Given the description of an element on the screen output the (x, y) to click on. 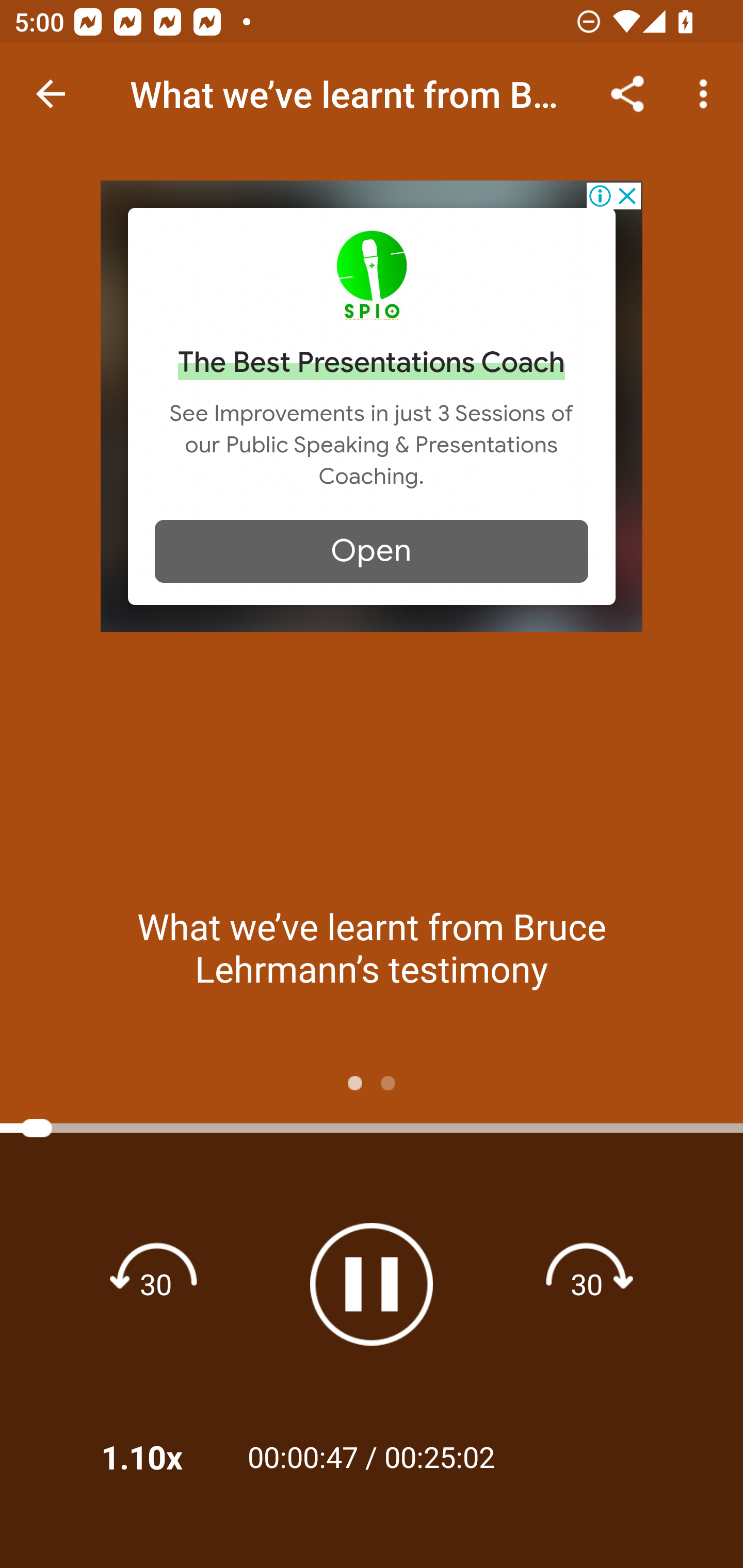
Navigate up (50, 93)
Share... (626, 93)
More options (706, 93)
www.spio (371, 274)
The Best Presentations Coach (371, 362)
Open (371, 550)
Pause (371, 1284)
Rewind (155, 1282)
Fast forward (586, 1282)
1.10x Playback Speeds (158, 1456)
00:25:02 (439, 1455)
